Given the description of an element on the screen output the (x, y) to click on. 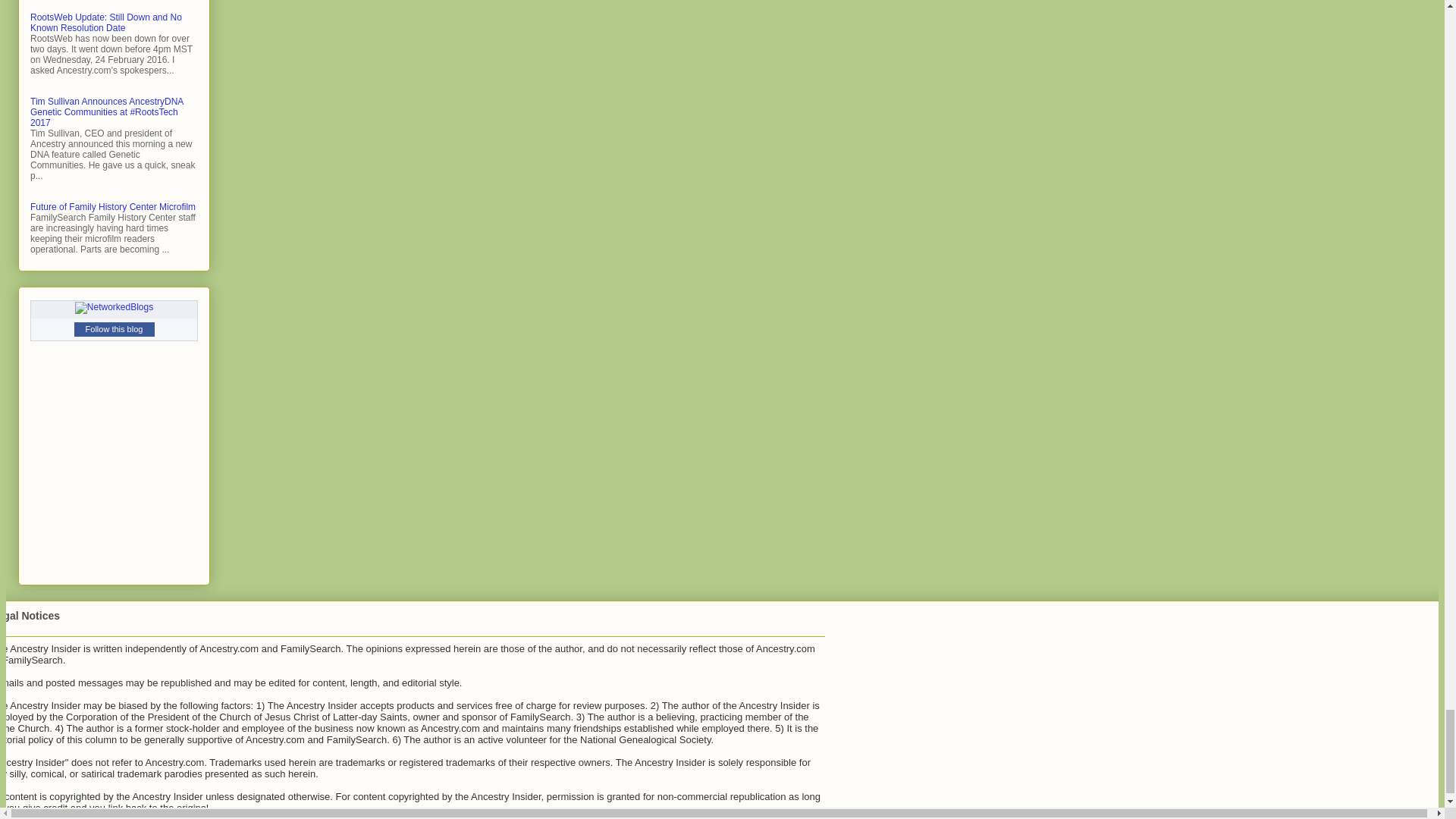
NetworkedBlogs (113, 307)
NetworkedBlogs (113, 307)
